Given the description of an element on the screen output the (x, y) to click on. 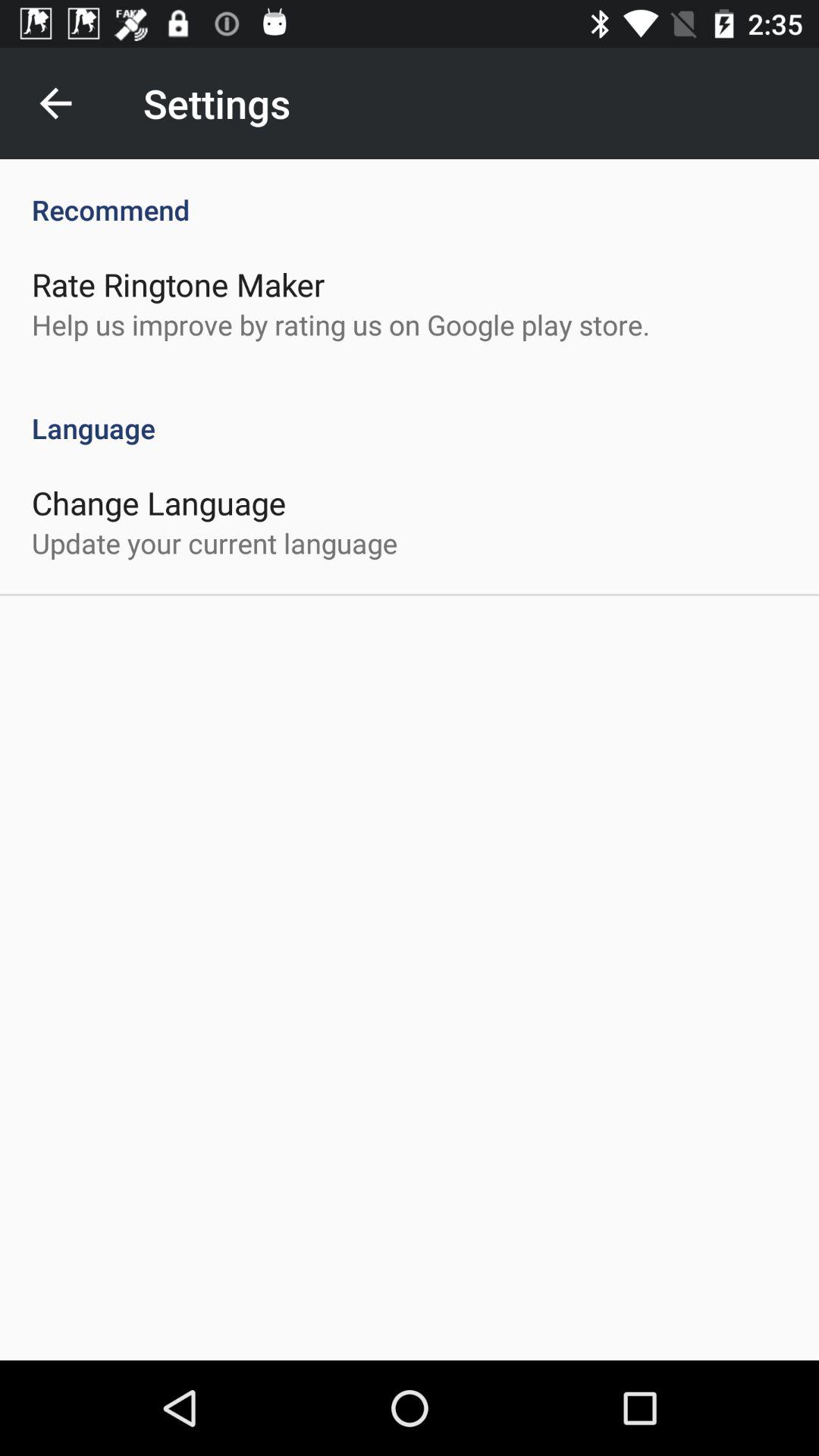
click the item to the left of the settings icon (55, 103)
